Given the description of an element on the screen output the (x, y) to click on. 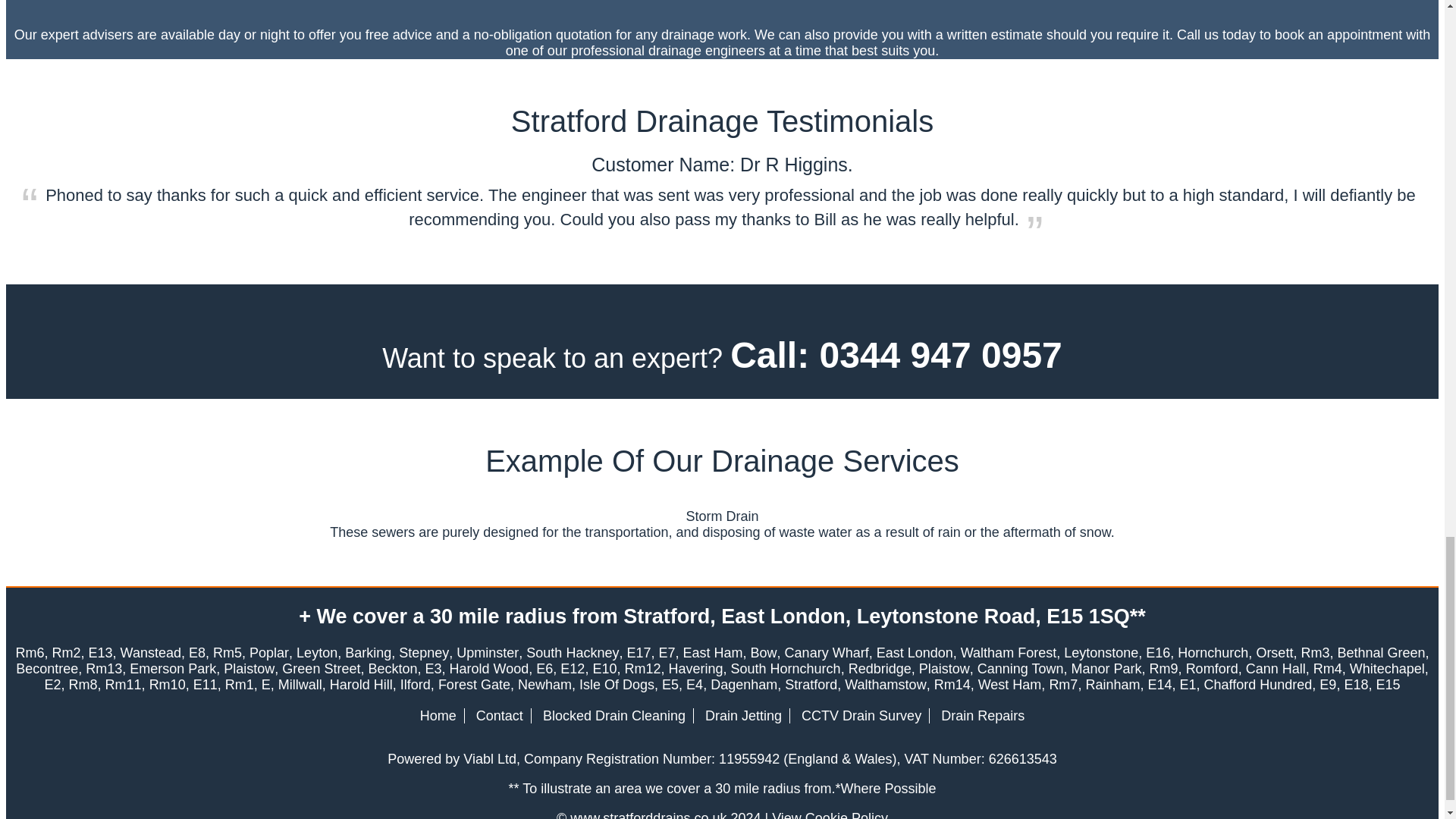
Drain Jetting (742, 715)
Drain Jetting (742, 715)
CCTV Drain Survey (861, 715)
Contact (499, 715)
Drain Repairs (982, 715)
0344 947 0957 (939, 354)
Blocked Drain Cleaning (614, 715)
Home (438, 715)
CCTV Drain Survey (861, 715)
Blocked Drain Cleaning (614, 715)
Contact Us (499, 715)
Drain Repairs (982, 715)
Homepage (438, 715)
